Given the description of an element on the screen output the (x, y) to click on. 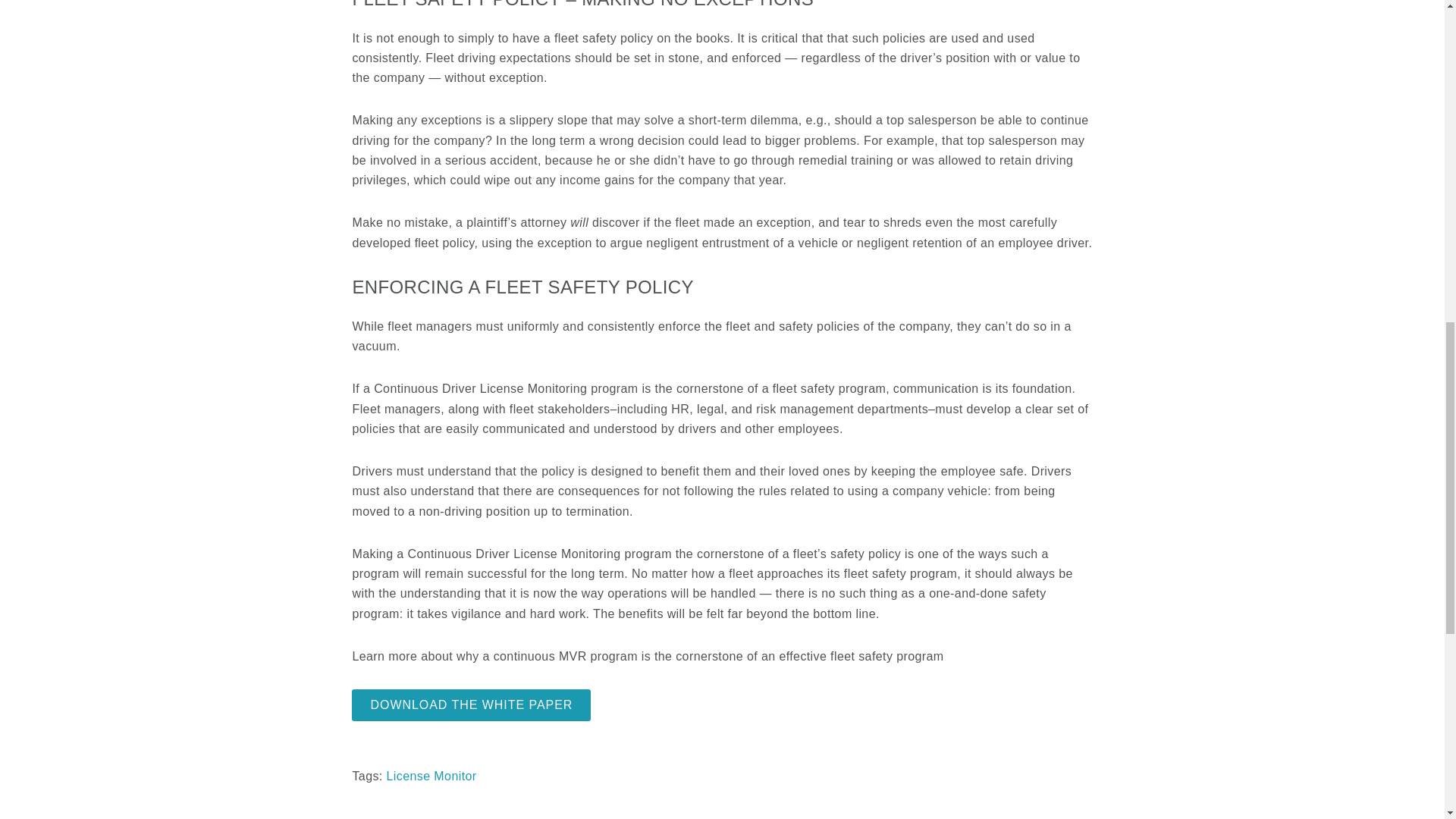
DOWNLOAD THE WHITE PAPER (471, 705)
License Monitor (432, 775)
